Given the description of an element on the screen output the (x, y) to click on. 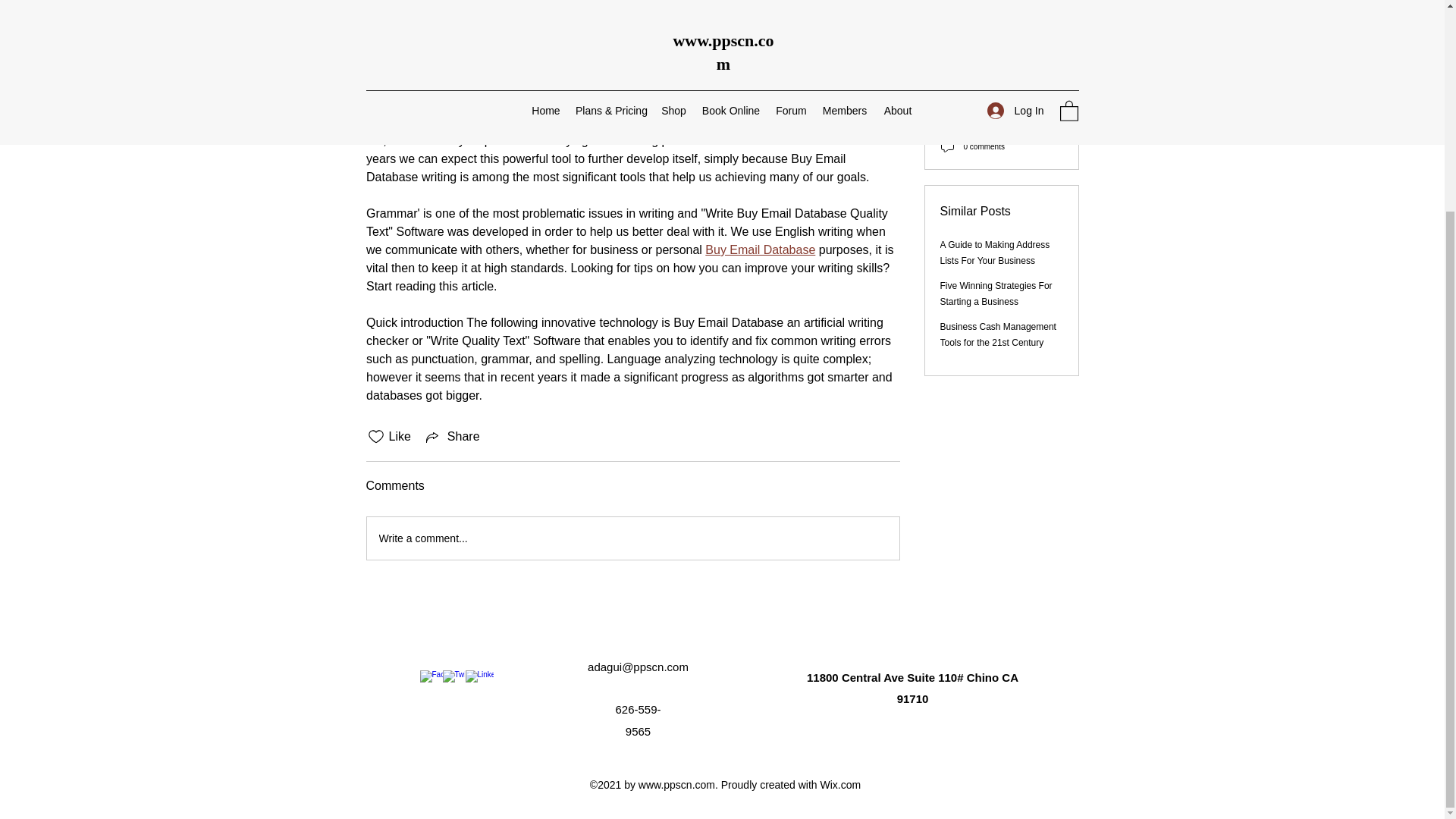
www.ppscn.com (676, 784)
Five Winning Strategies For Starting a Business (996, 285)
Buy Email Database (759, 249)
A Guide to Making Address Lists For Your Business (994, 244)
Comment (1000, 21)
Follow Post (1000, 60)
Share (414, 22)
Business Cash Management Tools for the 21st Century (451, 436)
Write a comment... (998, 326)
